Given the description of an element on the screen output the (x, y) to click on. 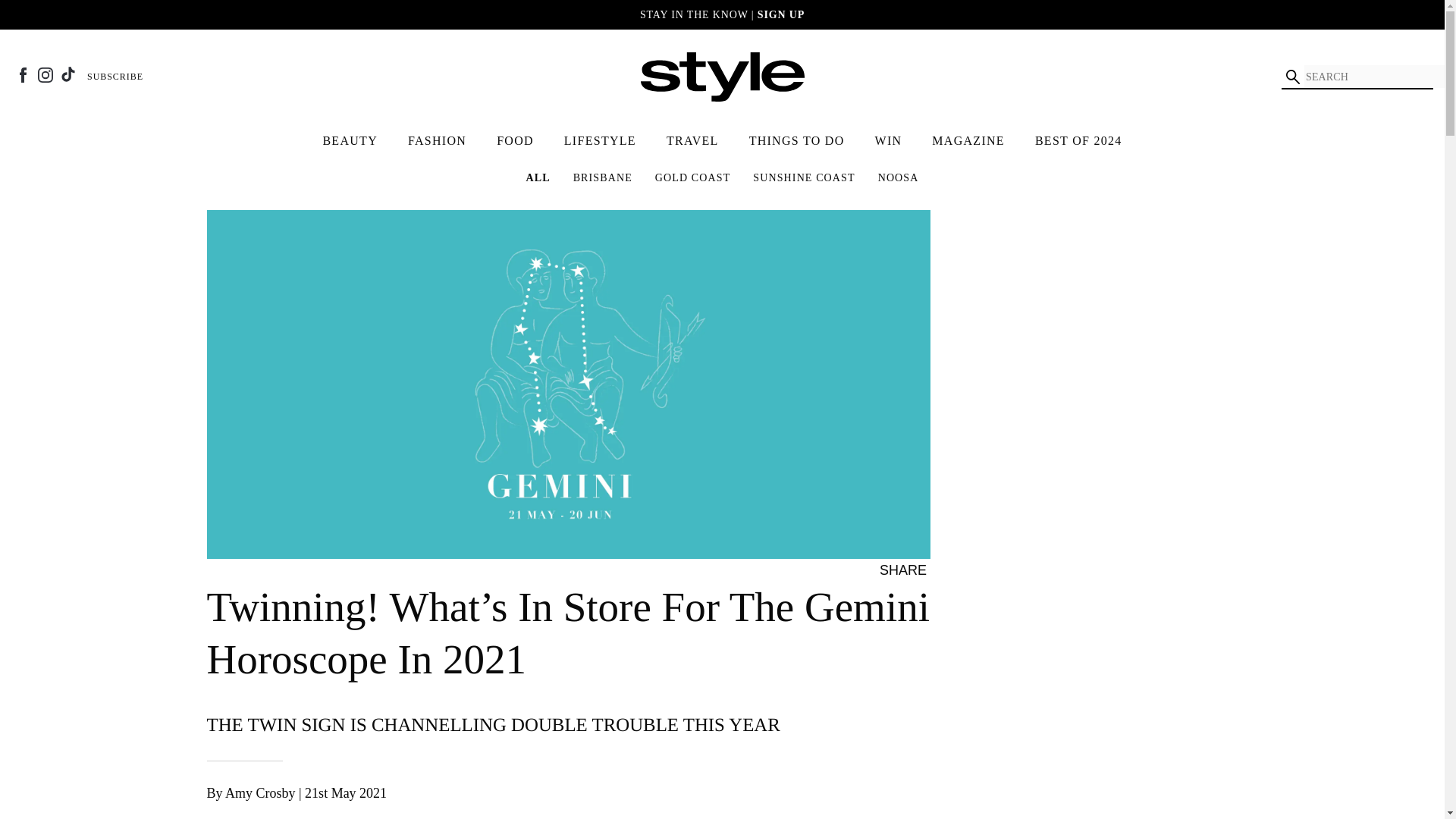
Instagram (44, 74)
BEAUTY (349, 141)
FASHION (437, 141)
Instagram (44, 74)
Search (1292, 76)
SUBSCRIBE (115, 76)
Search (1292, 76)
Facebook (22, 74)
Tiktok (68, 74)
Facebook (22, 74)
Email (986, 569)
Subscribe (115, 76)
FOOD (515, 141)
Facebook (941, 569)
LIFESTYLE (599, 141)
